Given the description of an element on the screen output the (x, y) to click on. 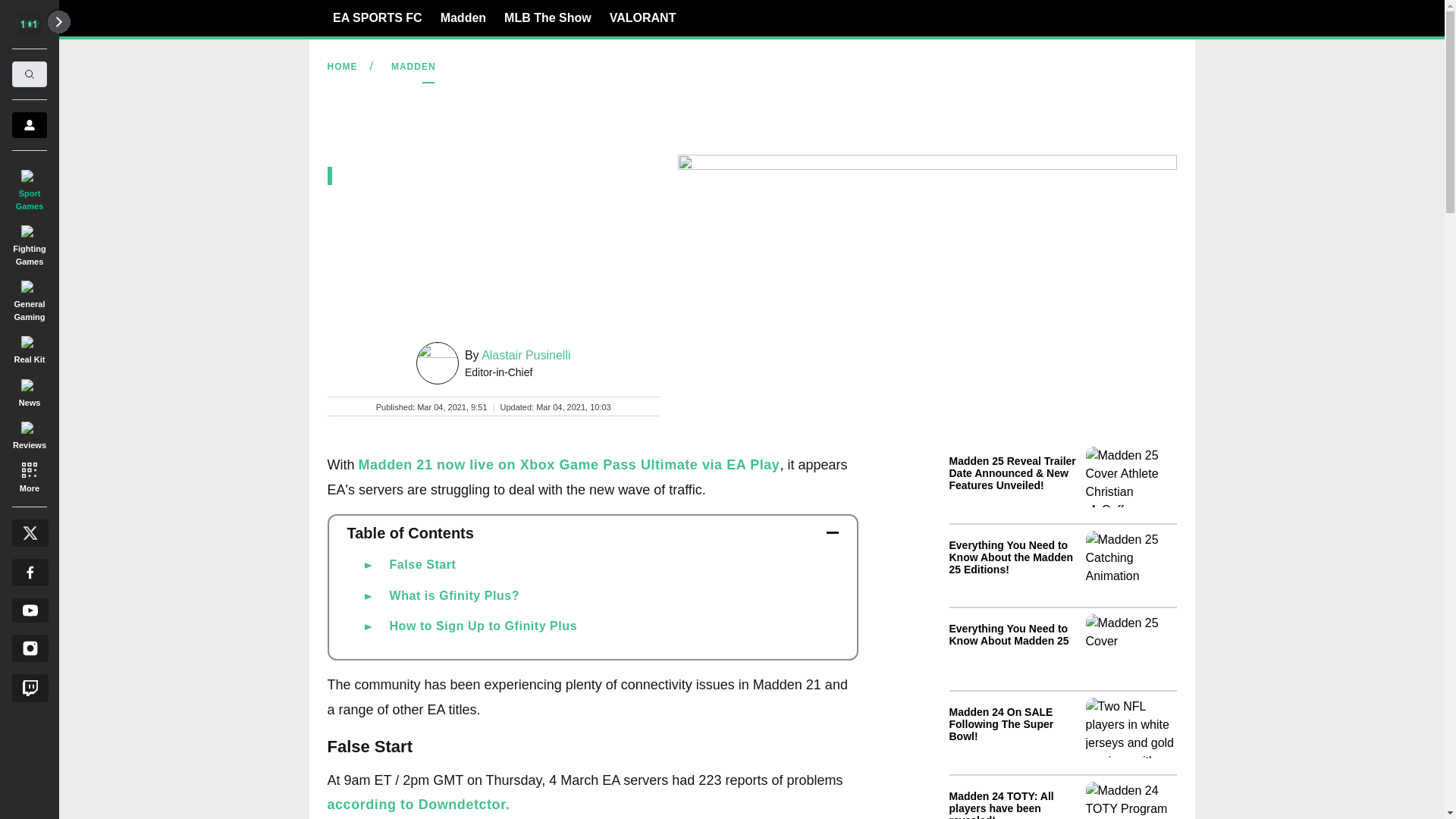
News (28, 389)
Madden (463, 18)
More (28, 476)
Sport Games (28, 187)
VALORANT (643, 18)
Reviews (28, 433)
EA SPORTS FC (377, 18)
Latest News (1062, 629)
General Gaming (28, 297)
Real Kit (28, 347)
Fighting Games (28, 242)
MLB The Show (547, 18)
